Given the description of an element on the screen output the (x, y) to click on. 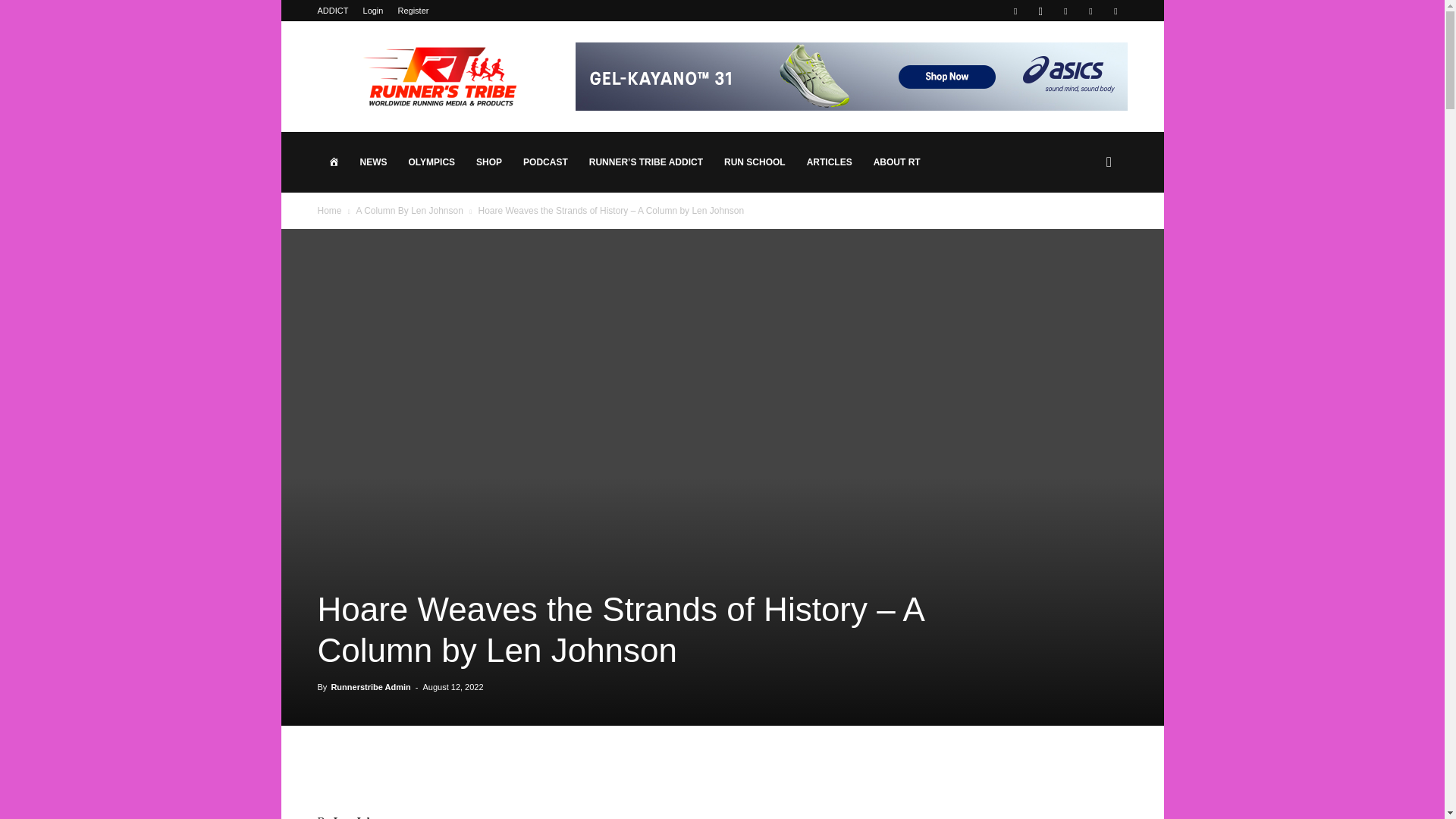
Twitter (1090, 10)
Pinterest (1065, 10)
Facebook (1015, 10)
Youtube (1114, 10)
Instagram (1040, 10)
